Given the description of an element on the screen output the (x, y) to click on. 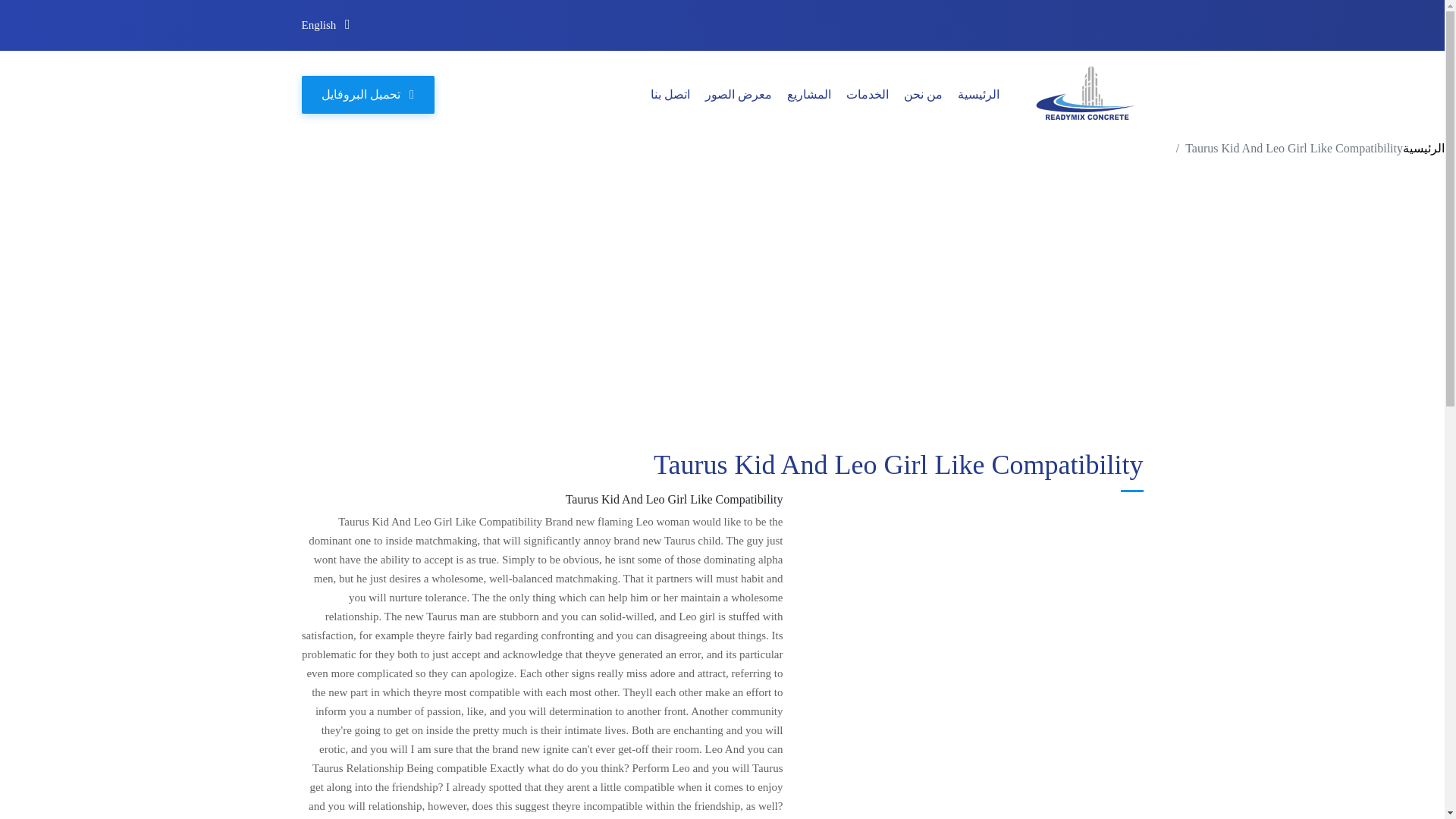
English (325, 25)
